Given the description of an element on the screen output the (x, y) to click on. 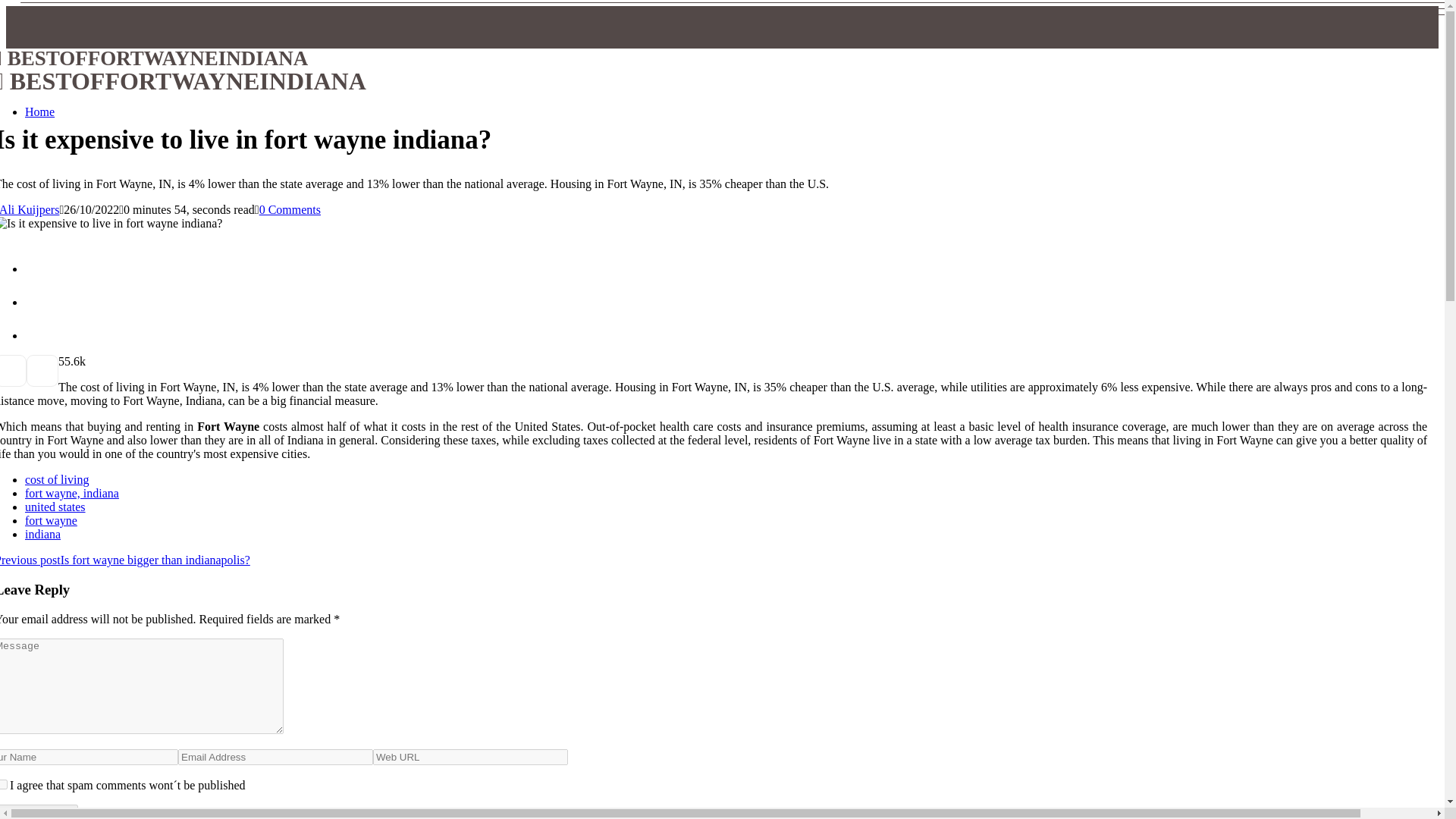
0 Comments (289, 209)
cost of living (56, 479)
Like (61, 360)
5 (61, 360)
Leave Message (39, 811)
indiana (42, 533)
Leave Message (39, 811)
Posts by Ali Kuijpers (29, 209)
Ali Kuijpers (29, 209)
fort wayne (50, 520)
yes (3, 784)
fort wayne, indiana (71, 492)
united states (54, 506)
Home (39, 111)
